Given the description of an element on the screen output the (x, y) to click on. 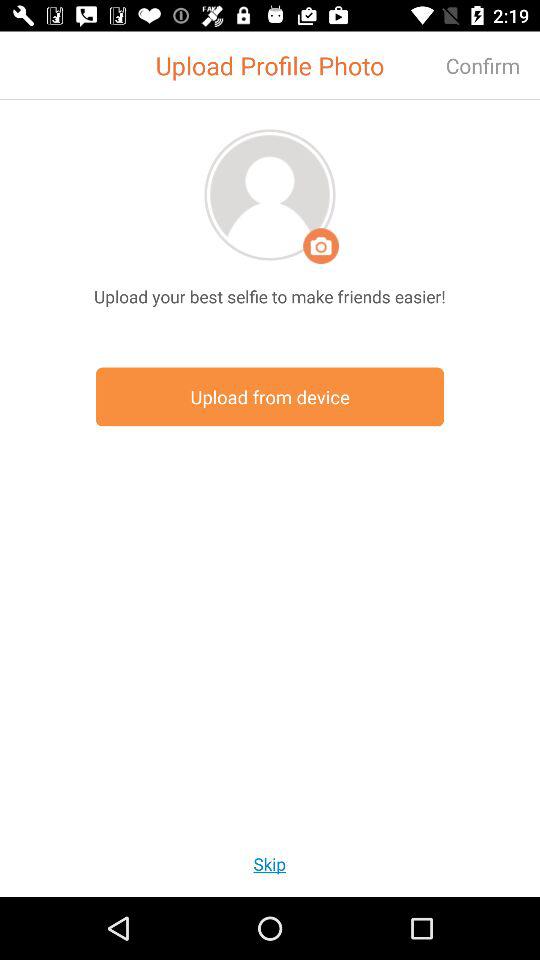
upload photo (269, 194)
